Given the description of an element on the screen output the (x, y) to click on. 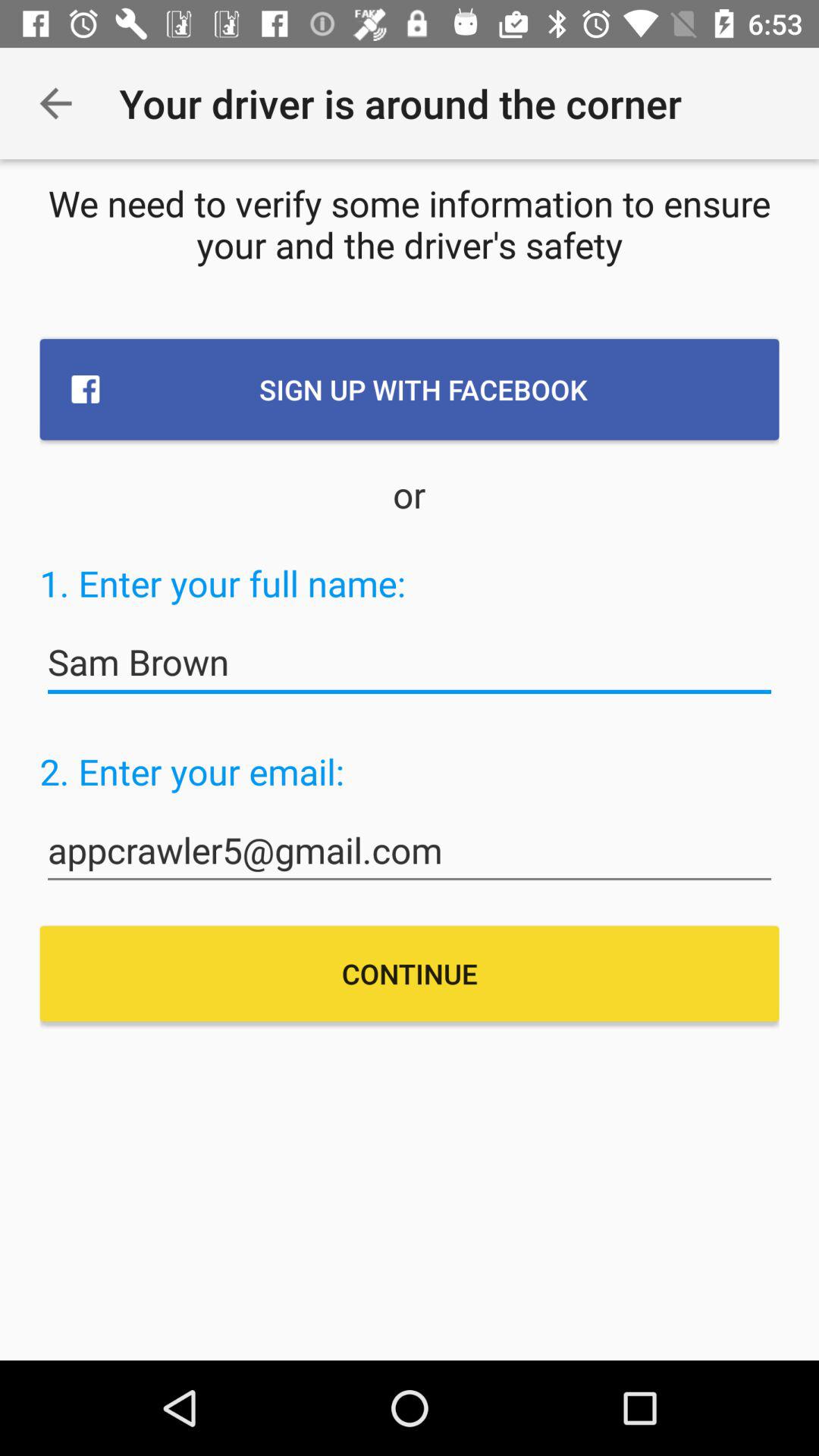
swipe to the continue (409, 973)
